Given the description of an element on the screen output the (x, y) to click on. 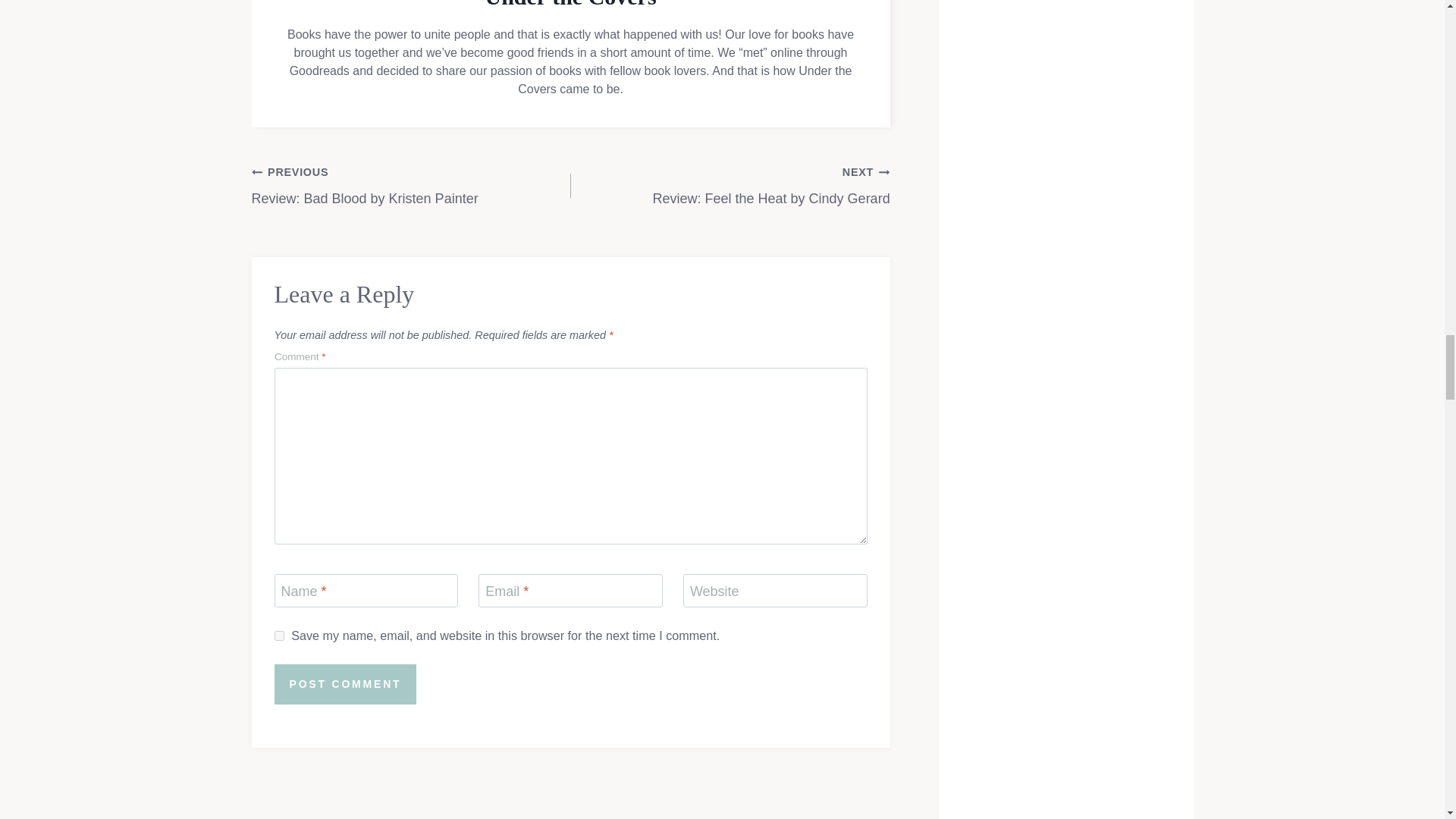
yes (729, 185)
Posts by Under the Covers (410, 185)
Under the Covers (279, 635)
Post Comment (570, 4)
